Given the description of an element on the screen output the (x, y) to click on. 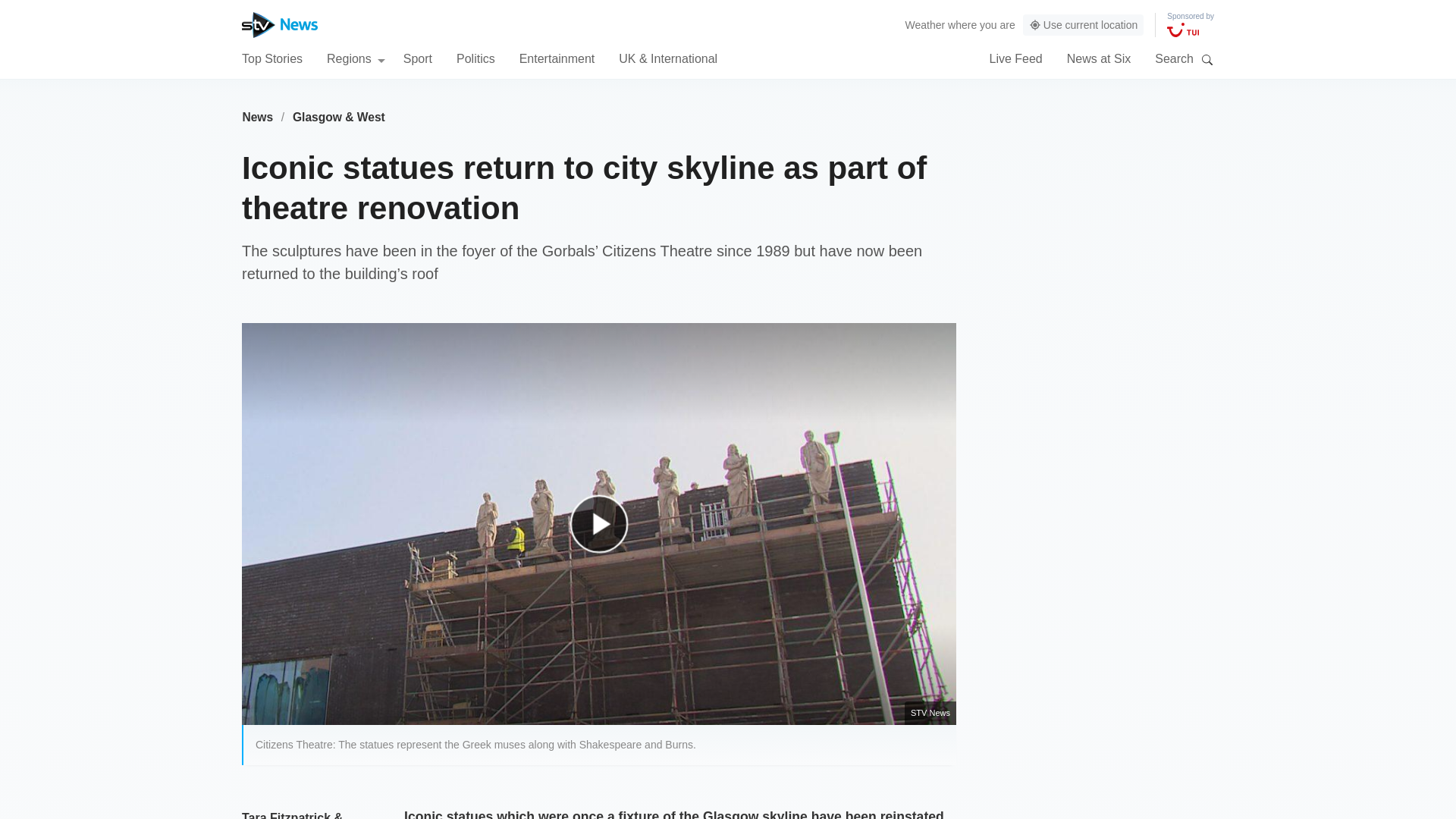
Regions (355, 57)
Weather (924, 24)
Politics (476, 57)
Play Video (606, 530)
News (257, 116)
Search (1206, 59)
Top Stories (271, 57)
Entertainment (557, 57)
Use current location (1083, 25)
Live Feed (1015, 57)
News at Six (1099, 57)
